Given the description of an element on the screen output the (x, y) to click on. 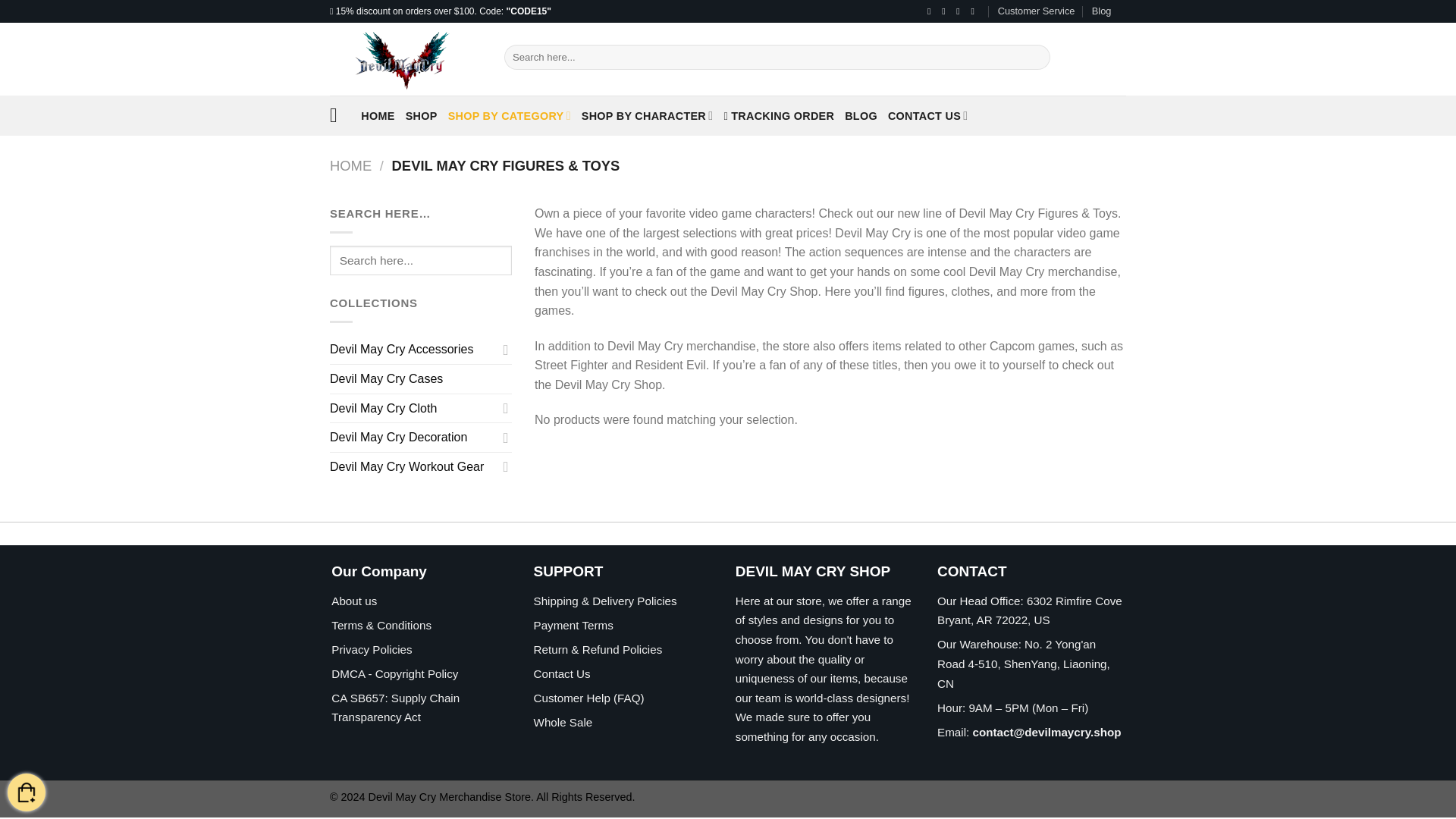
HOME (377, 115)
View your shopping cart (26, 792)
SHOP BY CATEGORY (509, 115)
SHOP (422, 115)
Customer Service (1036, 11)
